Given the description of an element on the screen output the (x, y) to click on. 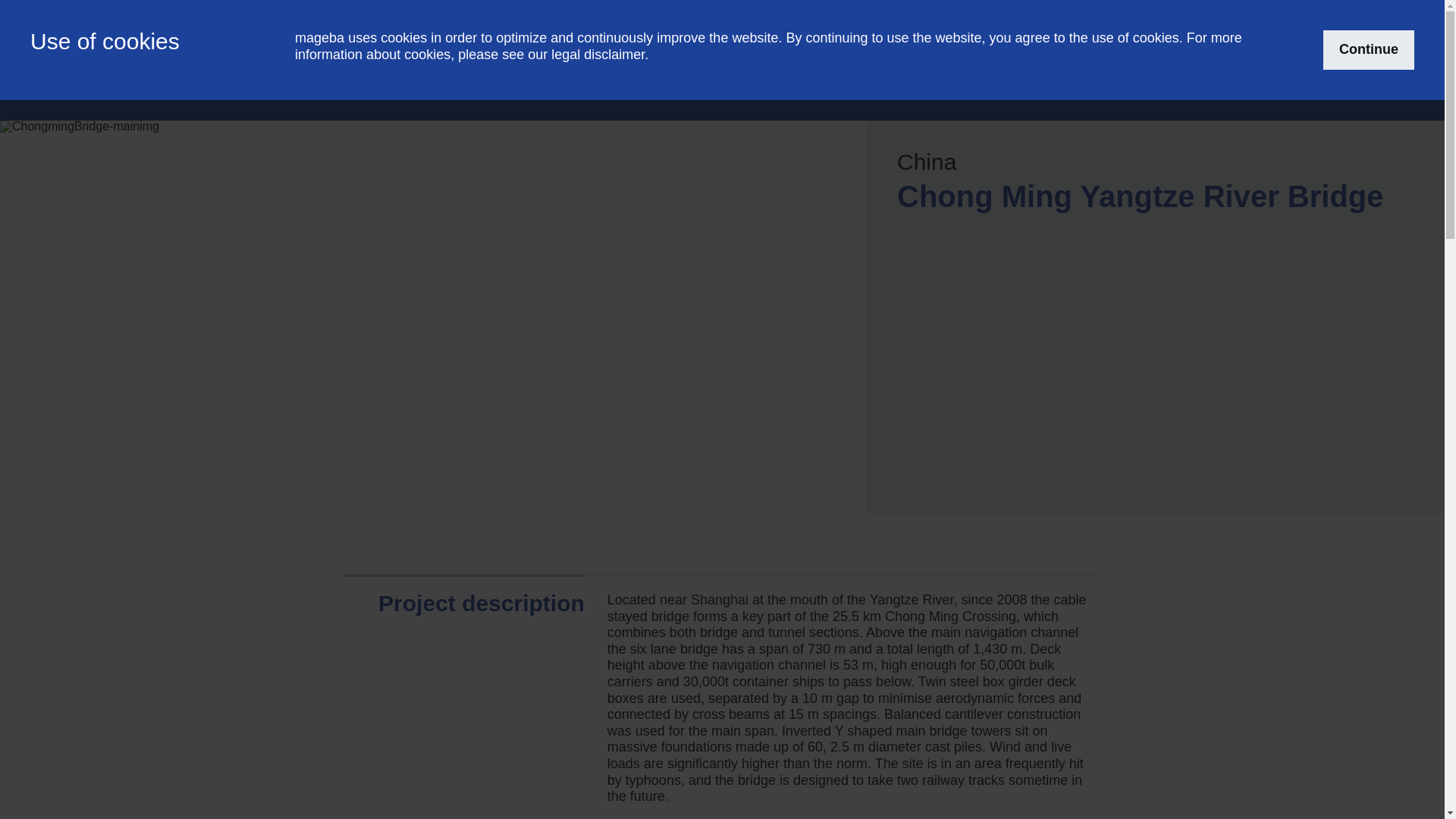
Contact (1276, 26)
India (1015, 26)
Downloads (1141, 26)
